Given the description of an element on the screen output the (x, y) to click on. 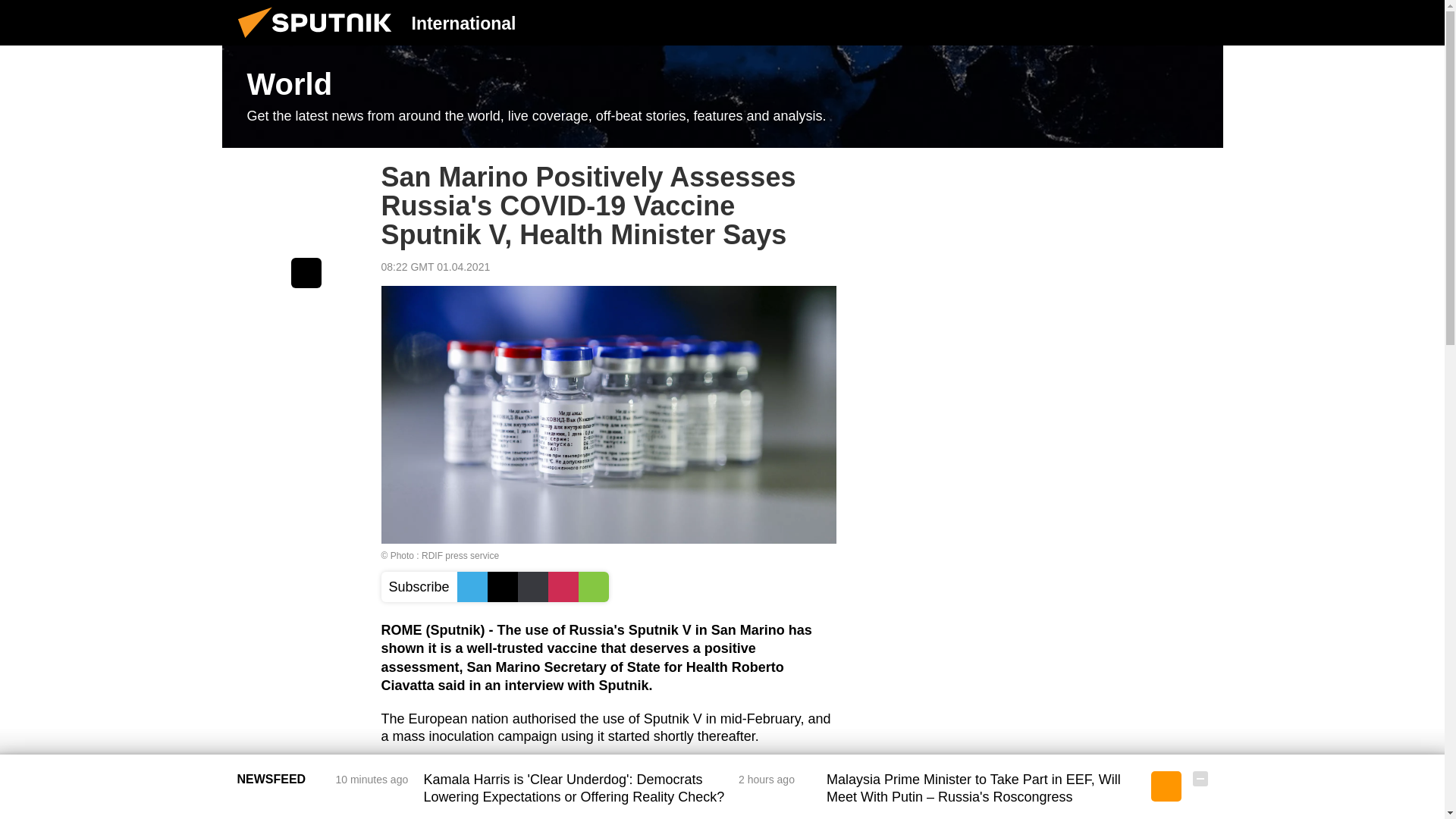
World (722, 96)
Sputnik International (319, 41)
Chats (1199, 22)
Authorization (1123, 22)
